Given the description of an element on the screen output the (x, y) to click on. 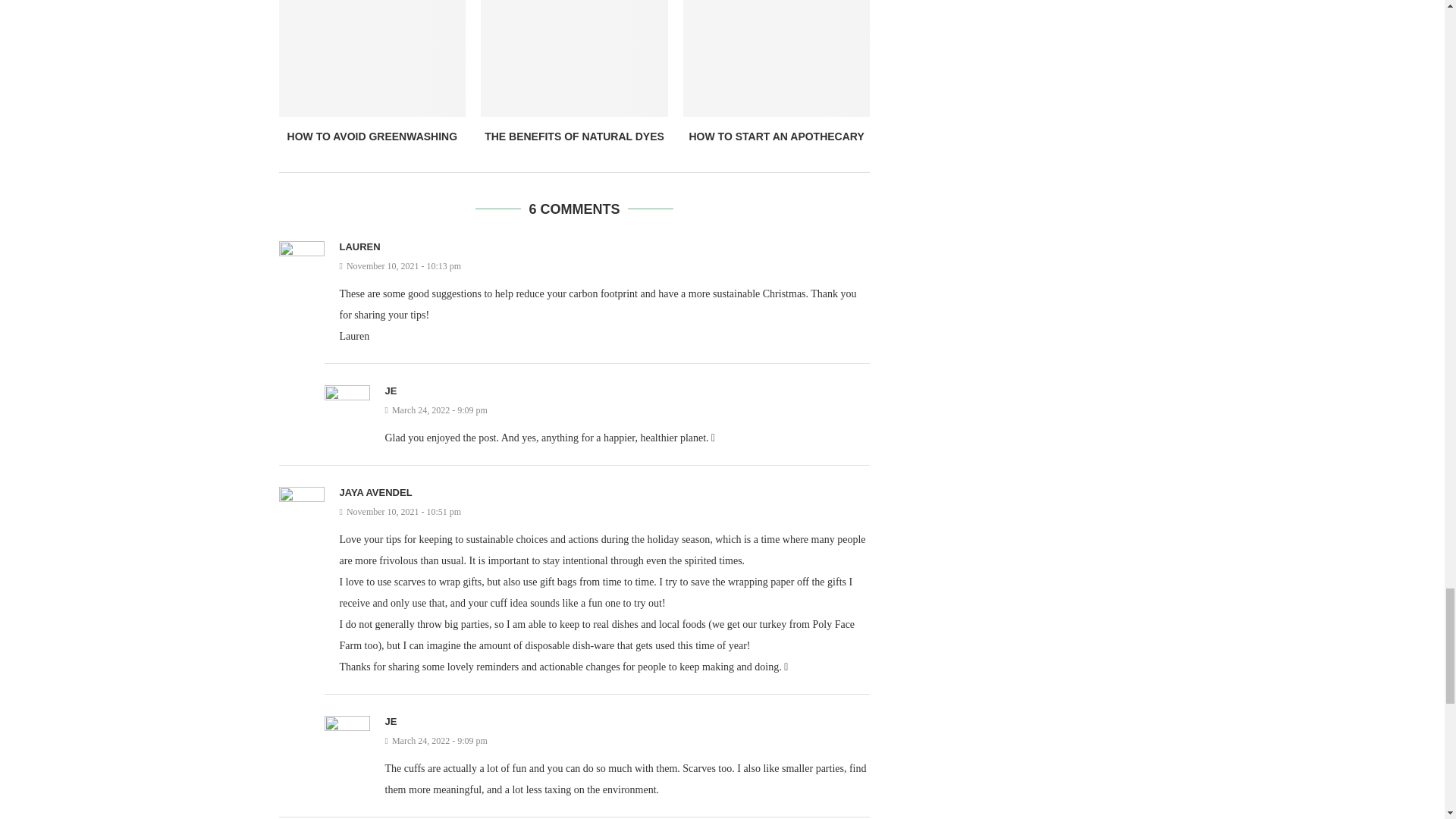
How to Start an Apothecary (776, 58)
HOW TO START AN APOTHECARY (775, 136)
HOW TO AVOID GREENWASHING (372, 136)
The Benefits of Natural Dyes (574, 58)
THE BENEFITS OF NATURAL DYES (573, 136)
How to Avoid Greenwashing (372, 58)
